Given the description of an element on the screen output the (x, y) to click on. 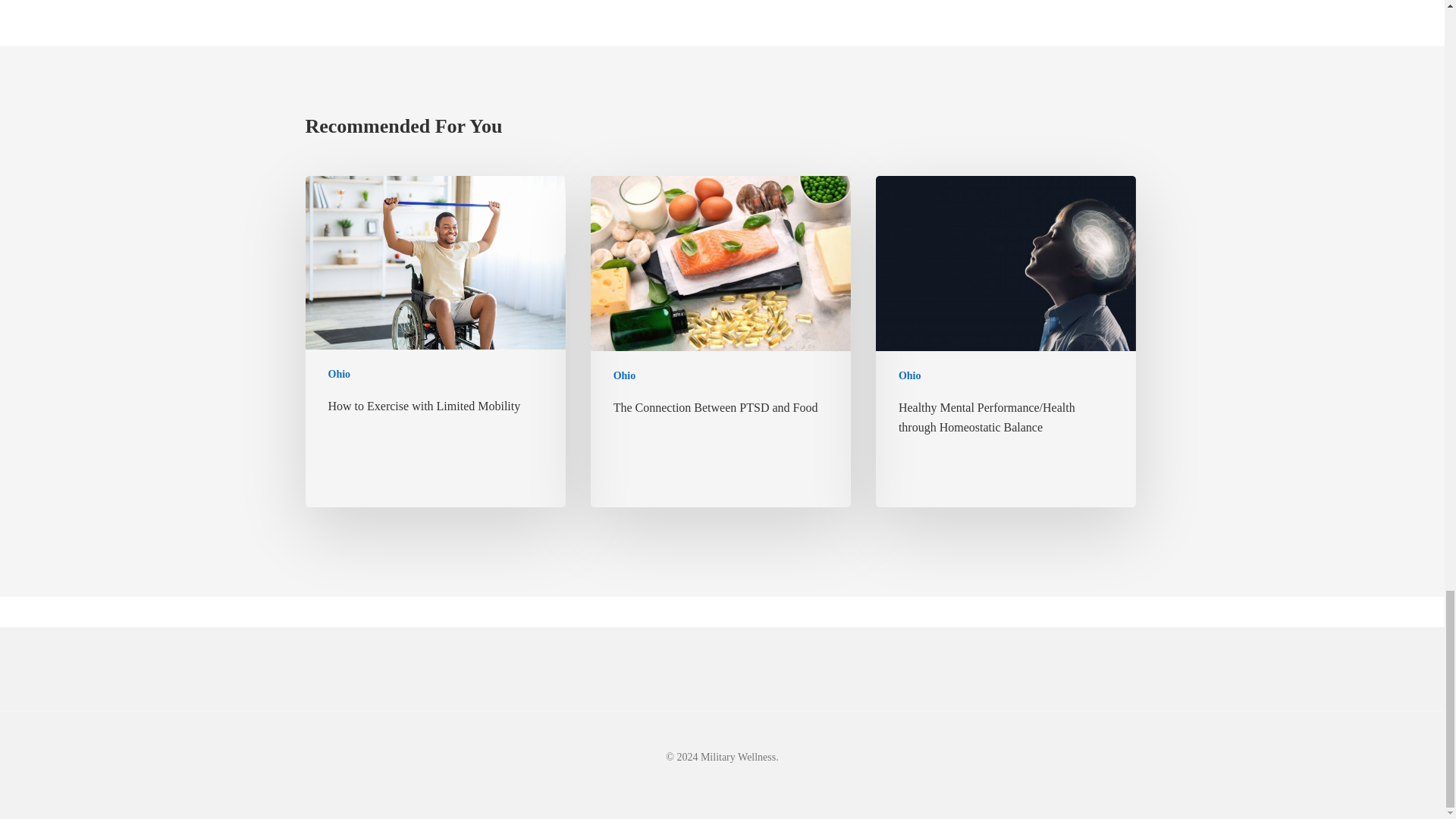
Ohio (909, 374)
Ohio (338, 373)
Ohio (624, 374)
